Given the description of an element on the screen output the (x, y) to click on. 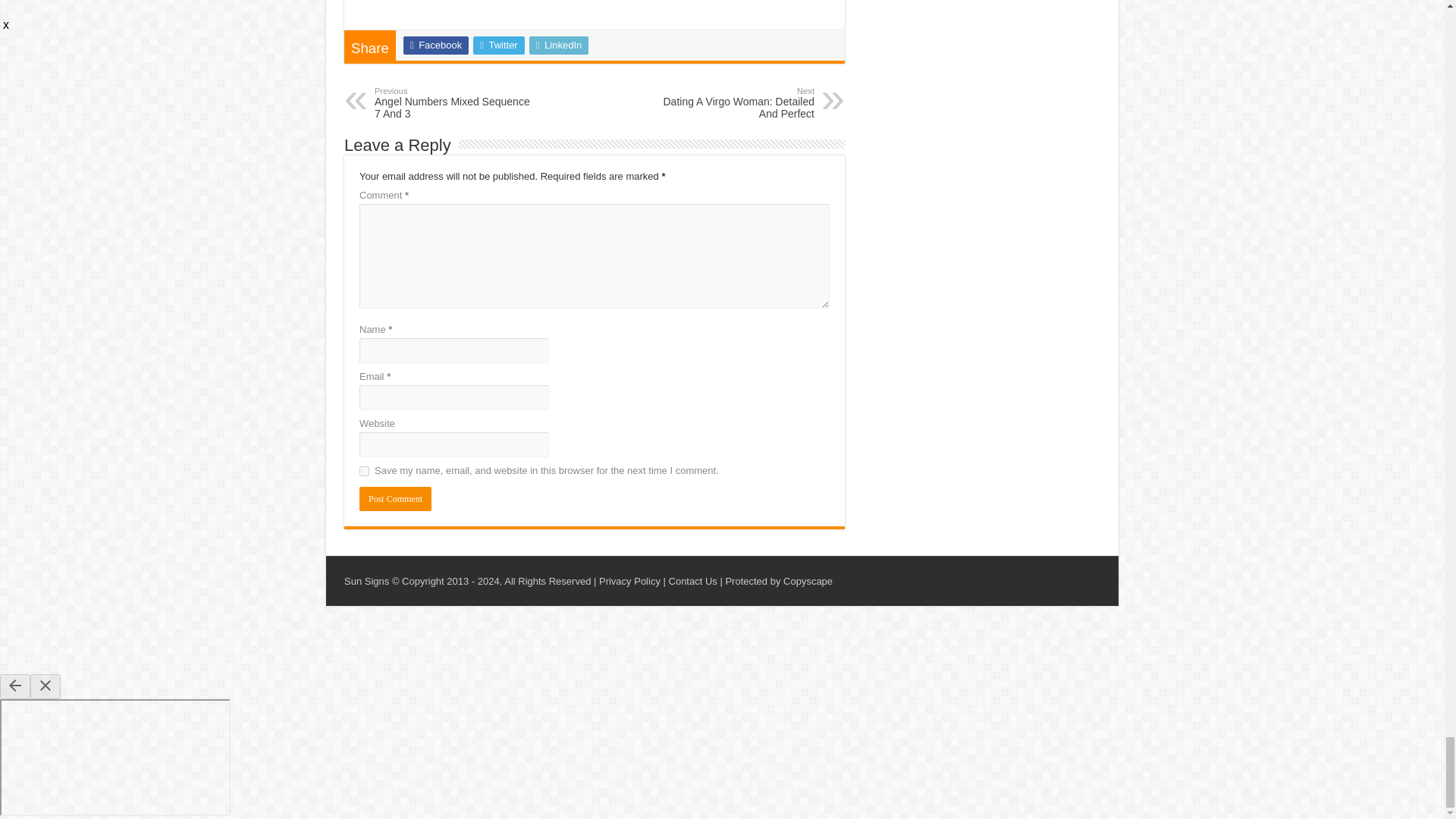
Post Comment (394, 498)
yes (364, 470)
